Given the description of an element on the screen output the (x, y) to click on. 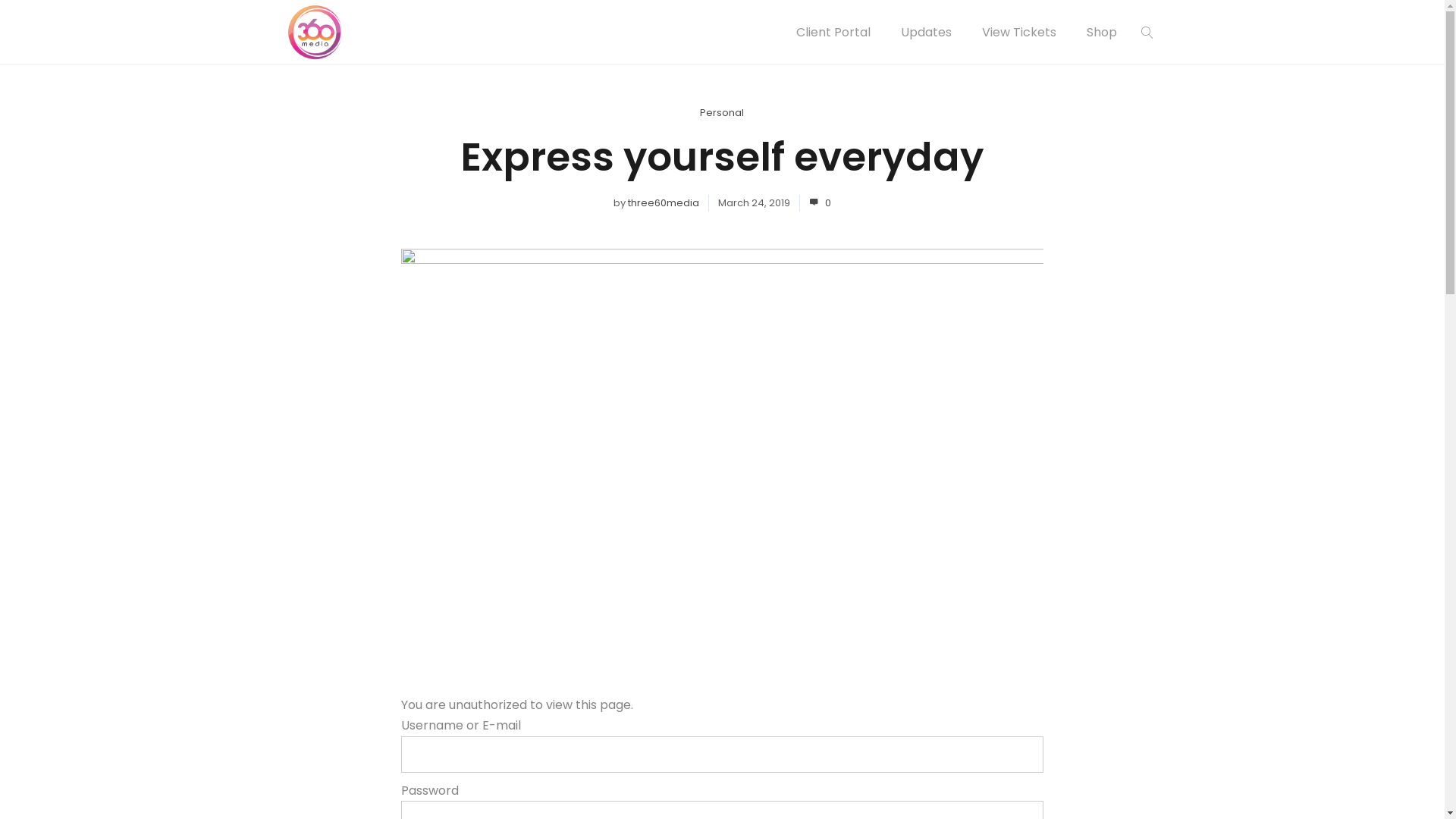
Client Portal Element type: text (833, 32)
View Tickets Element type: text (1018, 32)
Shop Element type: text (1100, 32)
three60media Element type: text (663, 202)
Personal Element type: text (721, 112)
0 Element type: text (820, 202)
Updates Element type: text (925, 32)
360 Media Clients Element type: hover (314, 31)
